Given the description of an element on the screen output the (x, y) to click on. 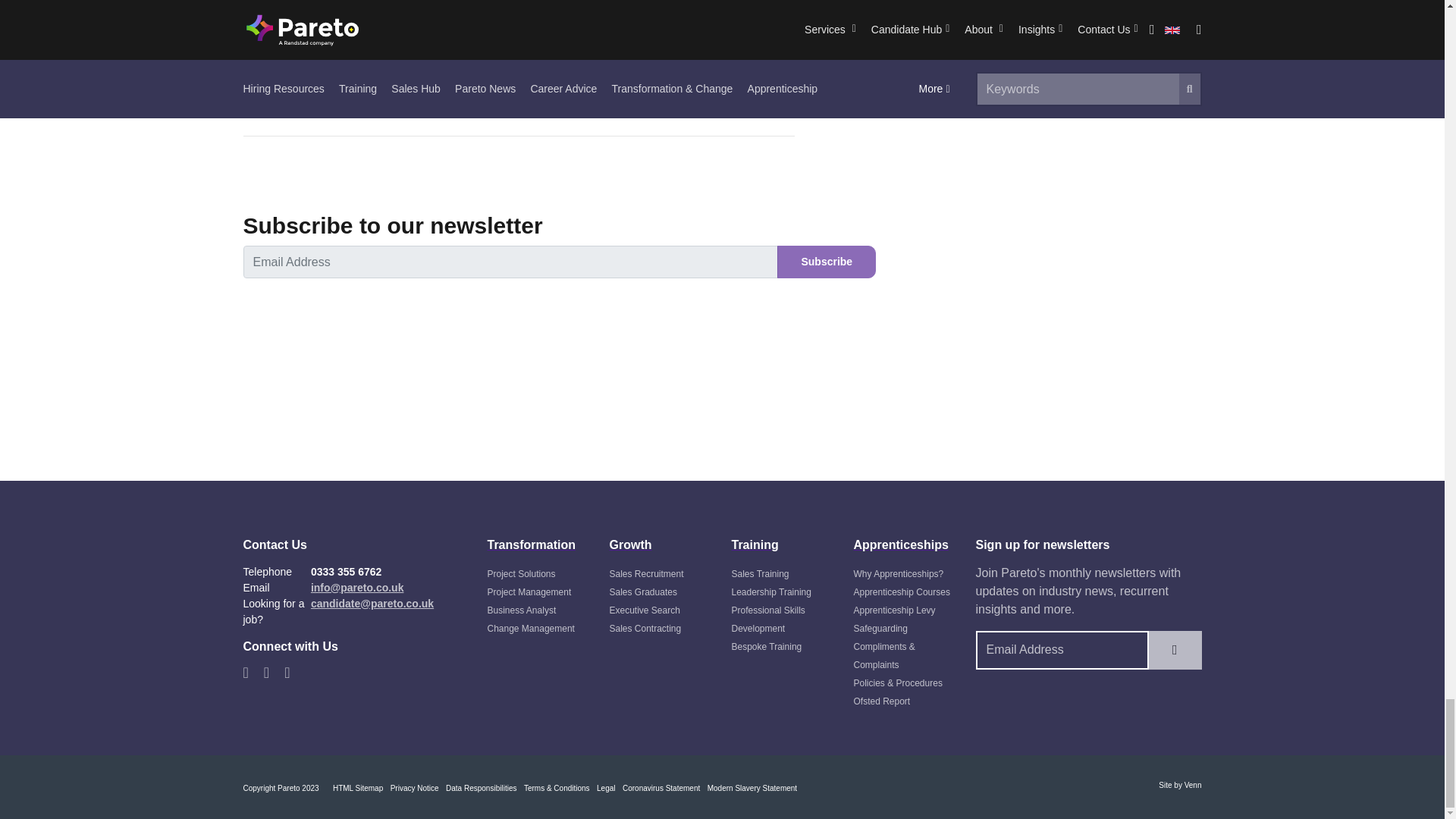
Subscribe (826, 261)
